Given the description of an element on the screen output the (x, y) to click on. 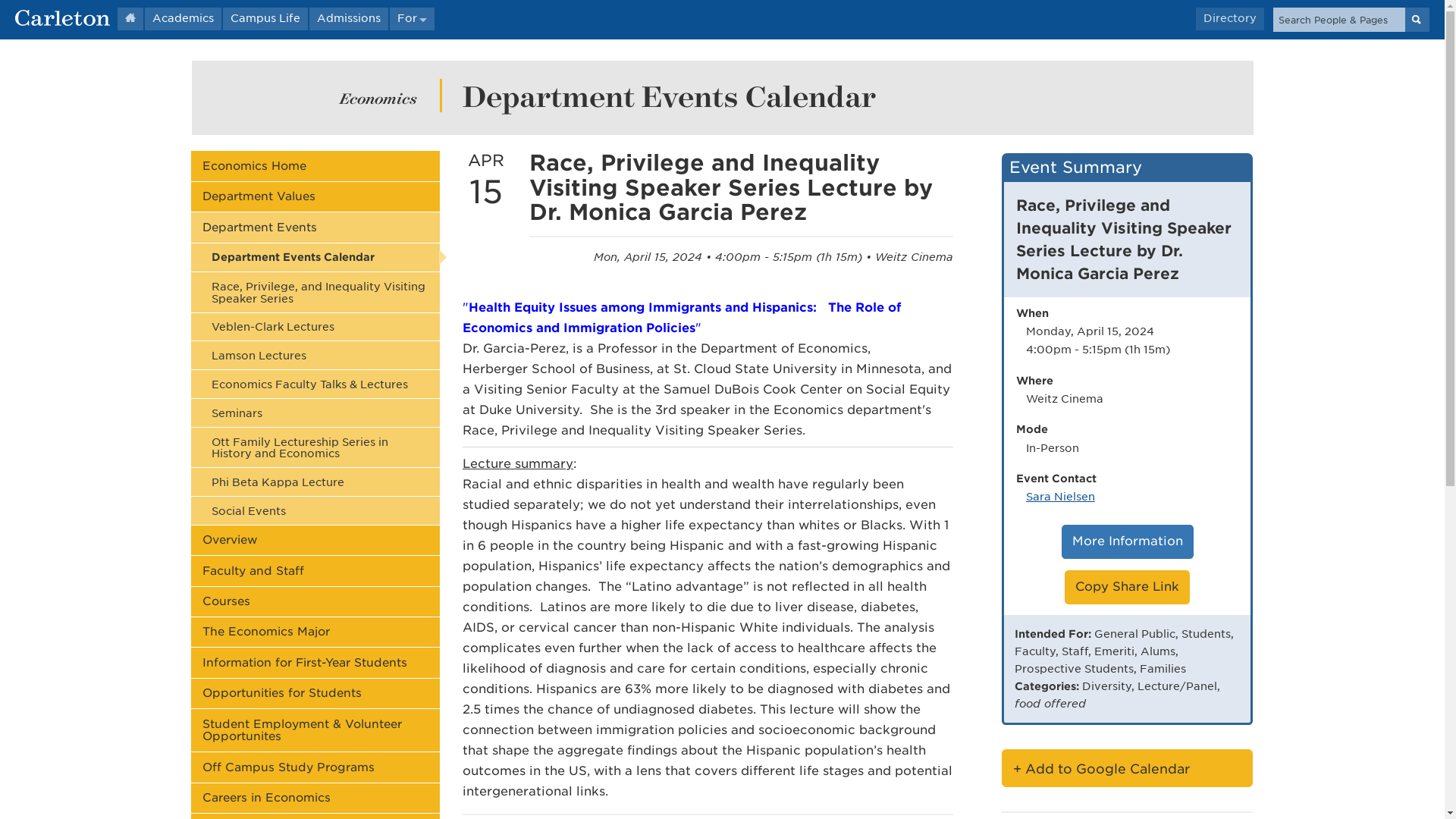
Ott Family Lectureship Series in History and Economics (314, 446)
Economics (377, 97)
Phi Beta Kappa Lecture (314, 481)
Campus Life (264, 18)
Lamson Lectures (314, 355)
Campus Directory (1229, 18)
Admissions (348, 18)
Economics Home (314, 165)
For (411, 18)
Department Events (314, 226)
